Given the description of an element on the screen output the (x, y) to click on. 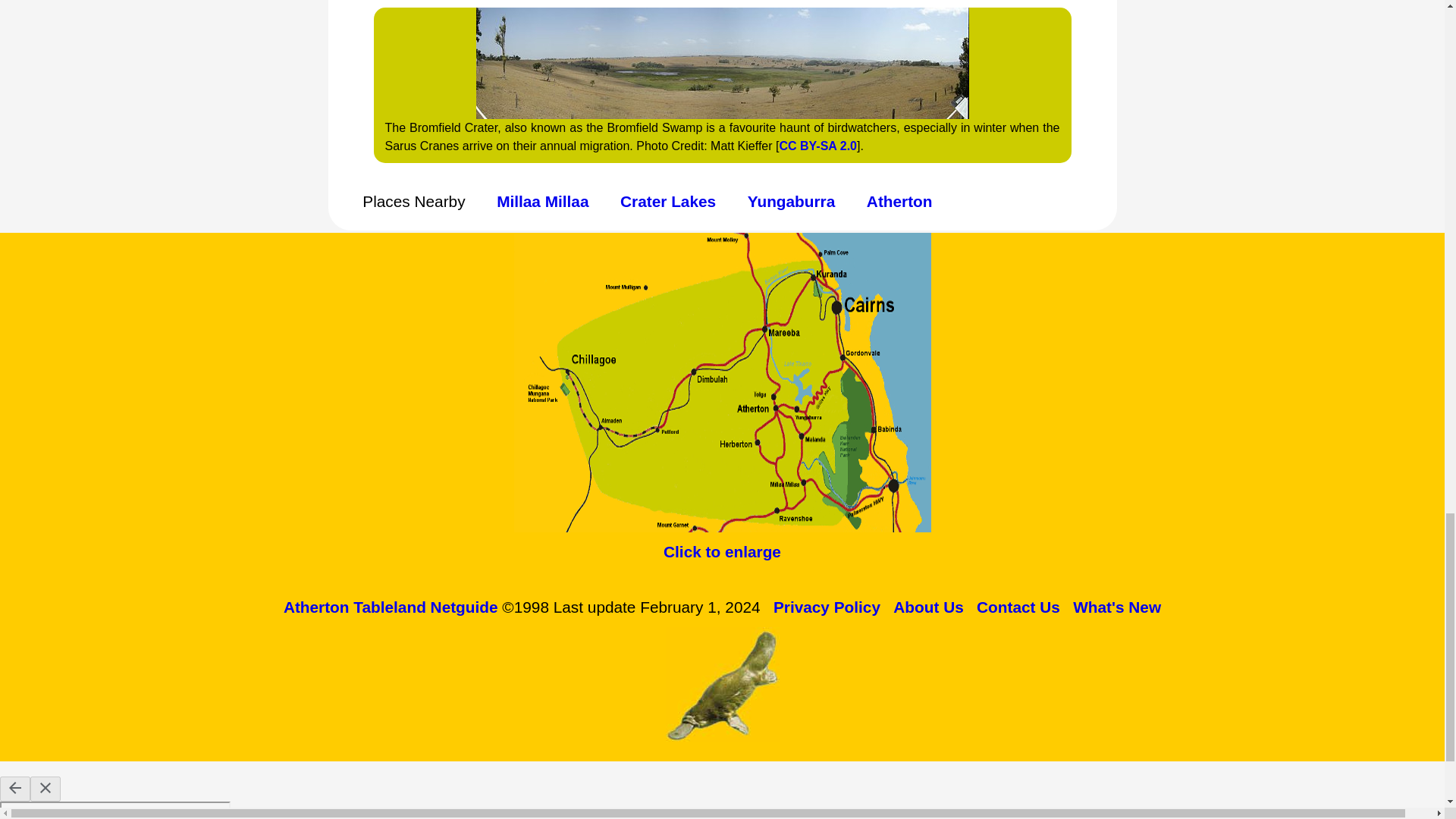
CC BY-SA 2.0 (817, 145)
What's New (1116, 606)
Atherton Tableland Netguide (390, 606)
Millaa Millaa (542, 200)
Contact Us (1017, 606)
Yungaburra (791, 200)
Click to enlarge (721, 551)
Crater Lakes (668, 200)
Privacy Policy (826, 606)
About Us (927, 606)
Atherton (899, 200)
